Given the description of an element on the screen output the (x, y) to click on. 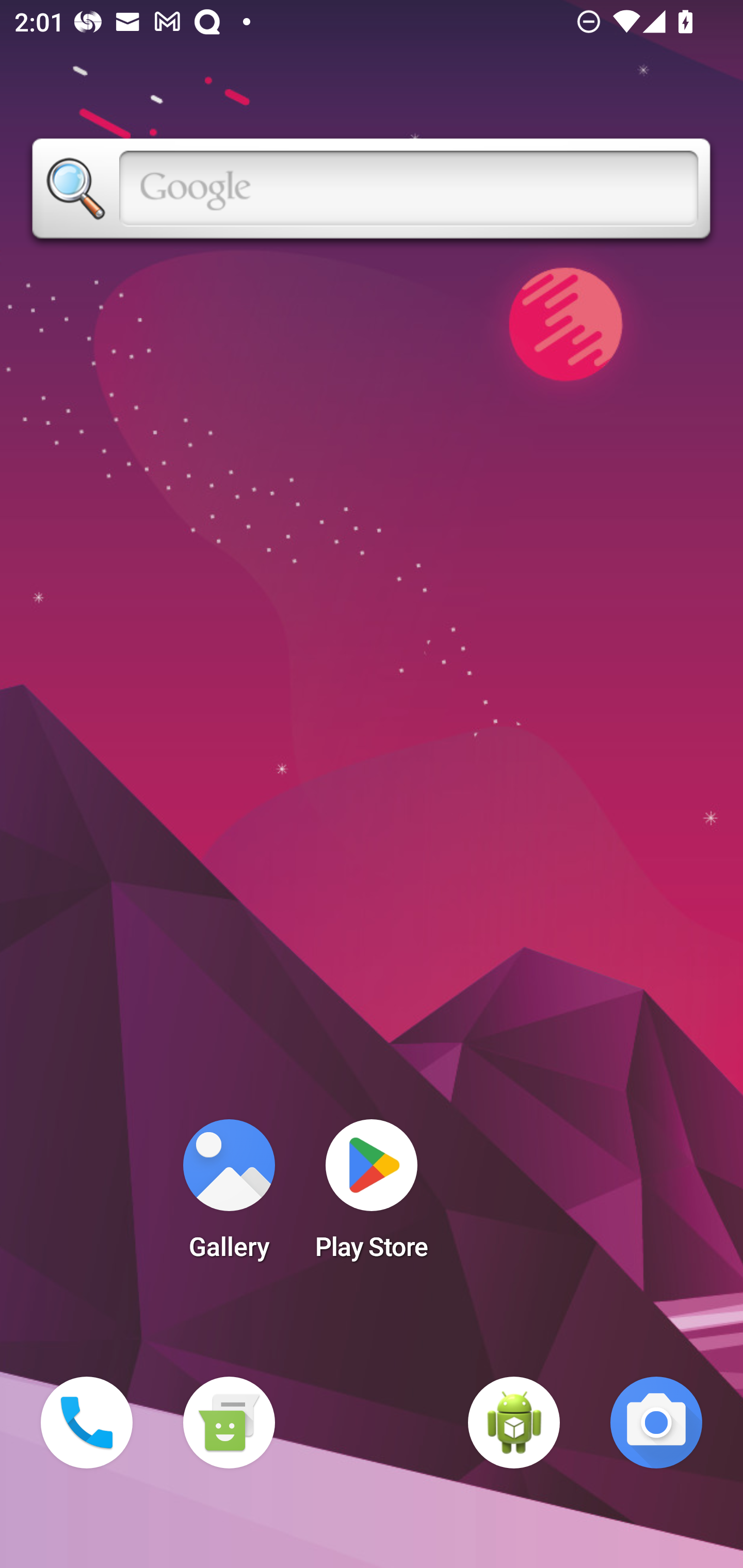
Gallery (228, 1195)
Play Store (371, 1195)
Phone (86, 1422)
Messaging (228, 1422)
WebView Browser Tester (513, 1422)
Camera (656, 1422)
